Given the description of an element on the screen output the (x, y) to click on. 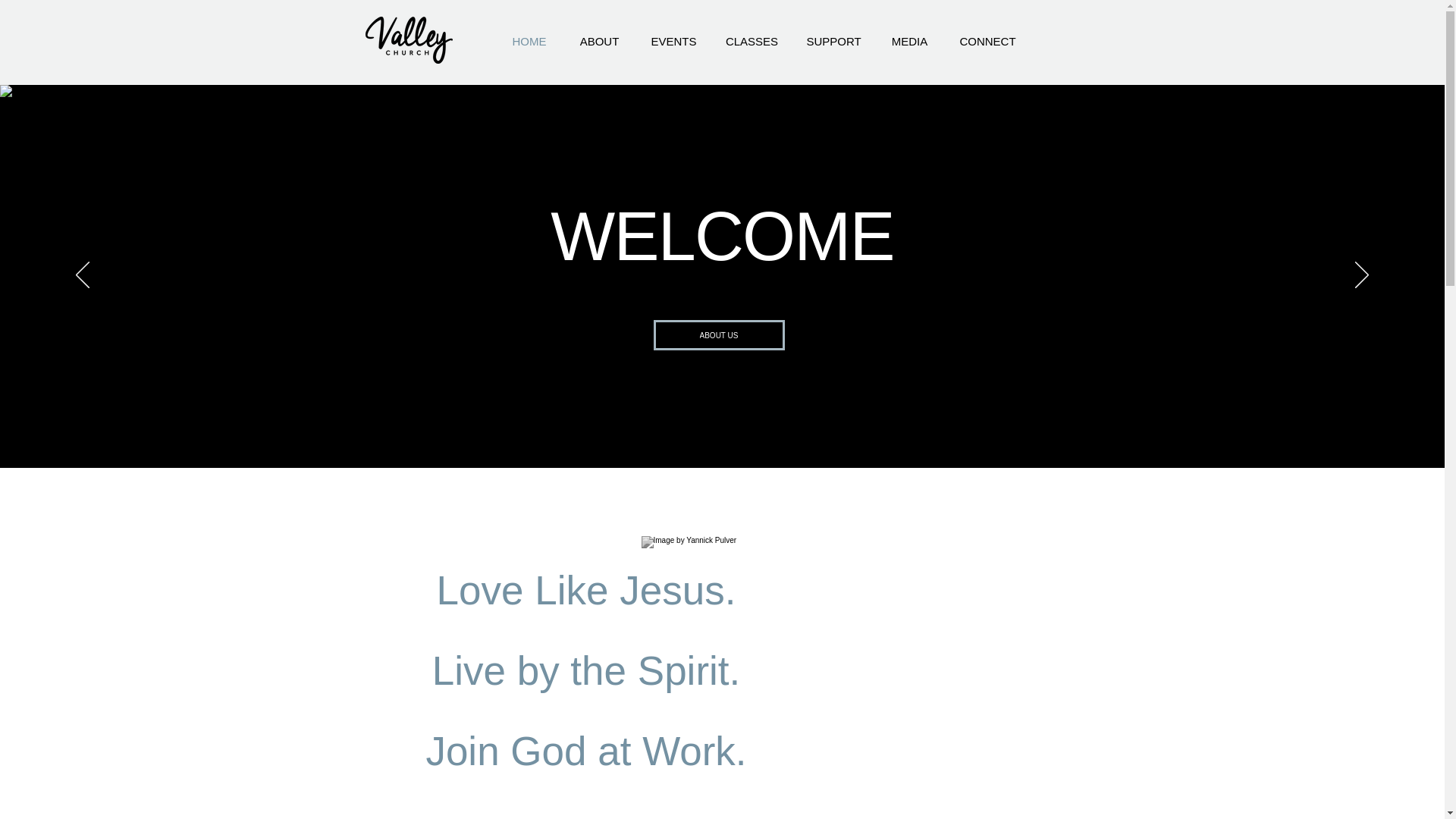
EVENTS (672, 41)
ABOUT US (718, 335)
ABOUT (598, 41)
HOME (529, 41)
CONNECT (986, 41)
SUPPORT (833, 41)
MEDIA (909, 41)
CLASSES (751, 41)
